Given the description of an element on the screen output the (x, y) to click on. 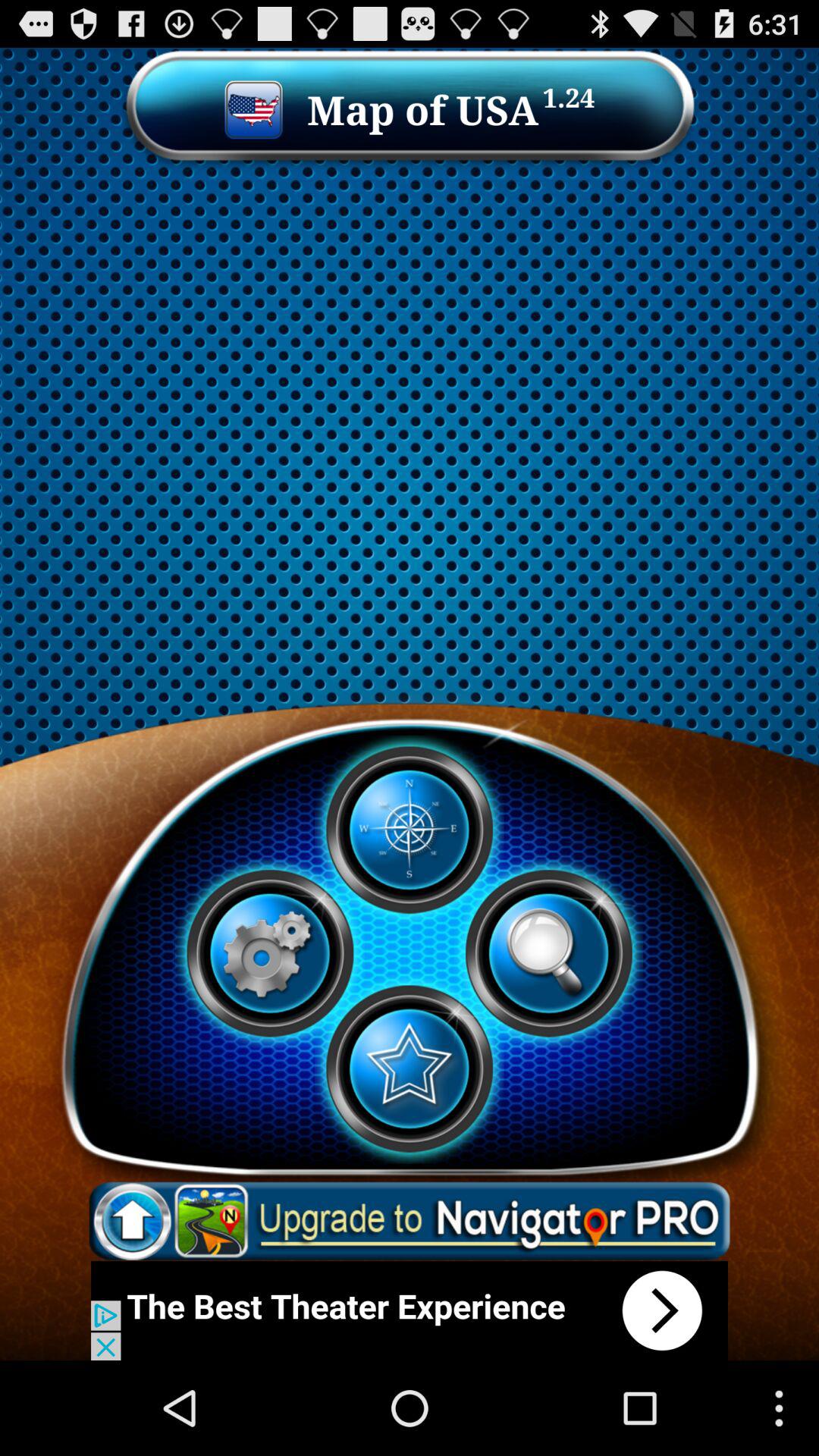
display the rate screen (408, 1068)
